Given the description of an element on the screen output the (x, y) to click on. 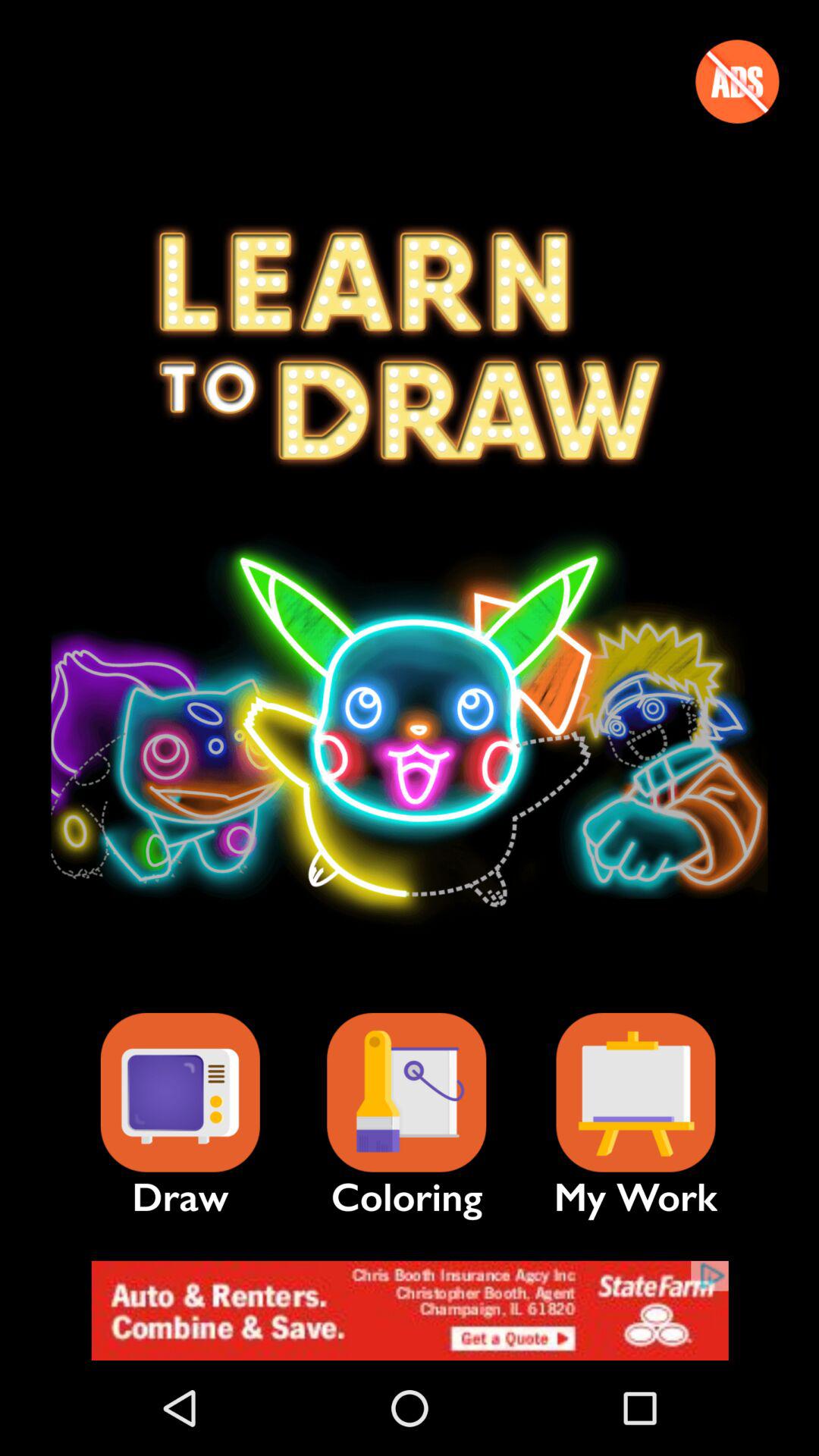
launch icon above coloring icon (406, 1092)
